Given the description of an element on the screen output the (x, y) to click on. 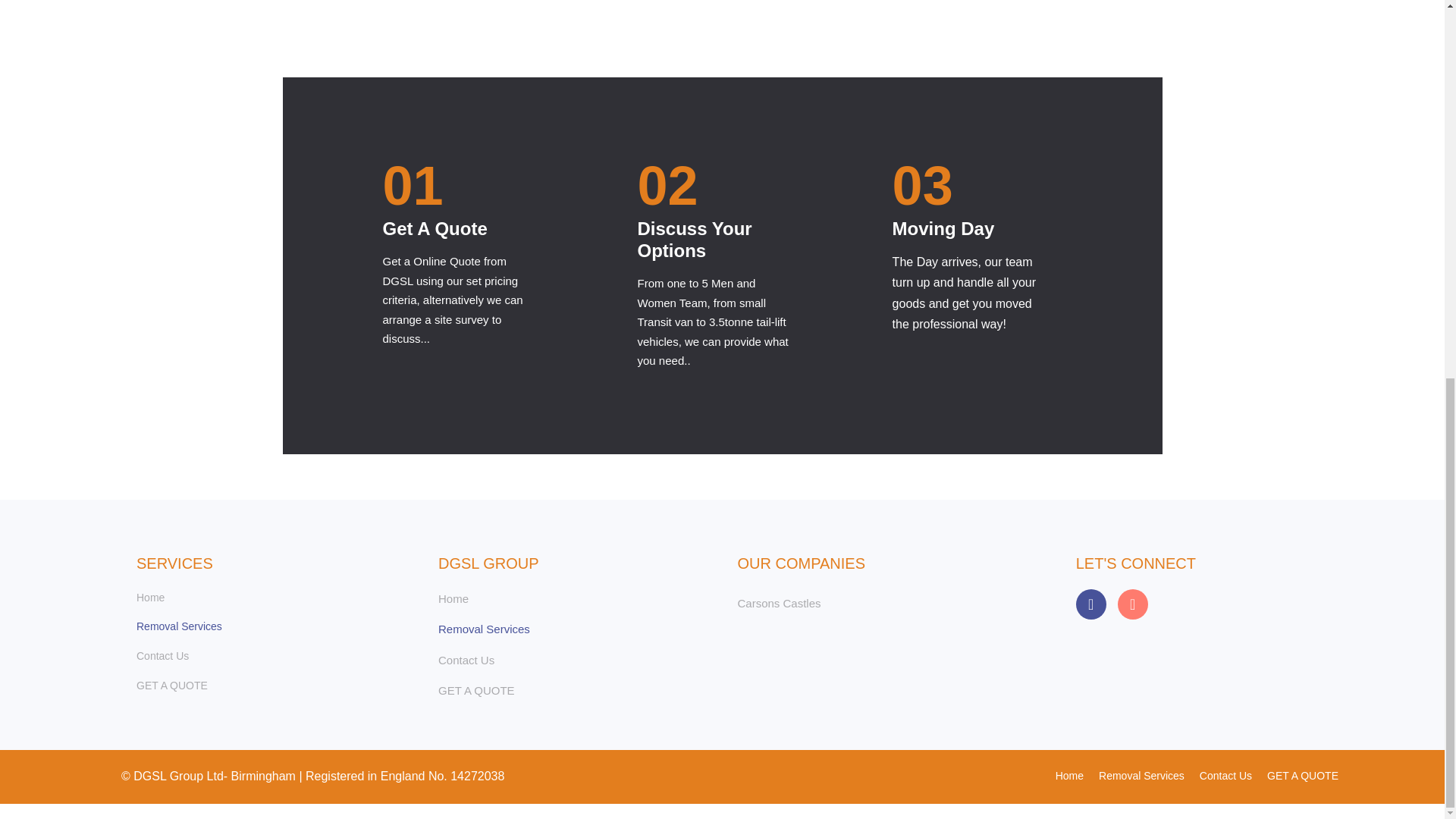
Removal Services (271, 627)
GET A QUOTE (1302, 778)
Home (572, 598)
Carsons Castles (778, 603)
Home (1069, 778)
Contact Us (1225, 778)
GET A QUOTE (572, 690)
Home (271, 597)
Contact Us (572, 660)
Facebook (1090, 603)
